Given the description of an element on the screen output the (x, y) to click on. 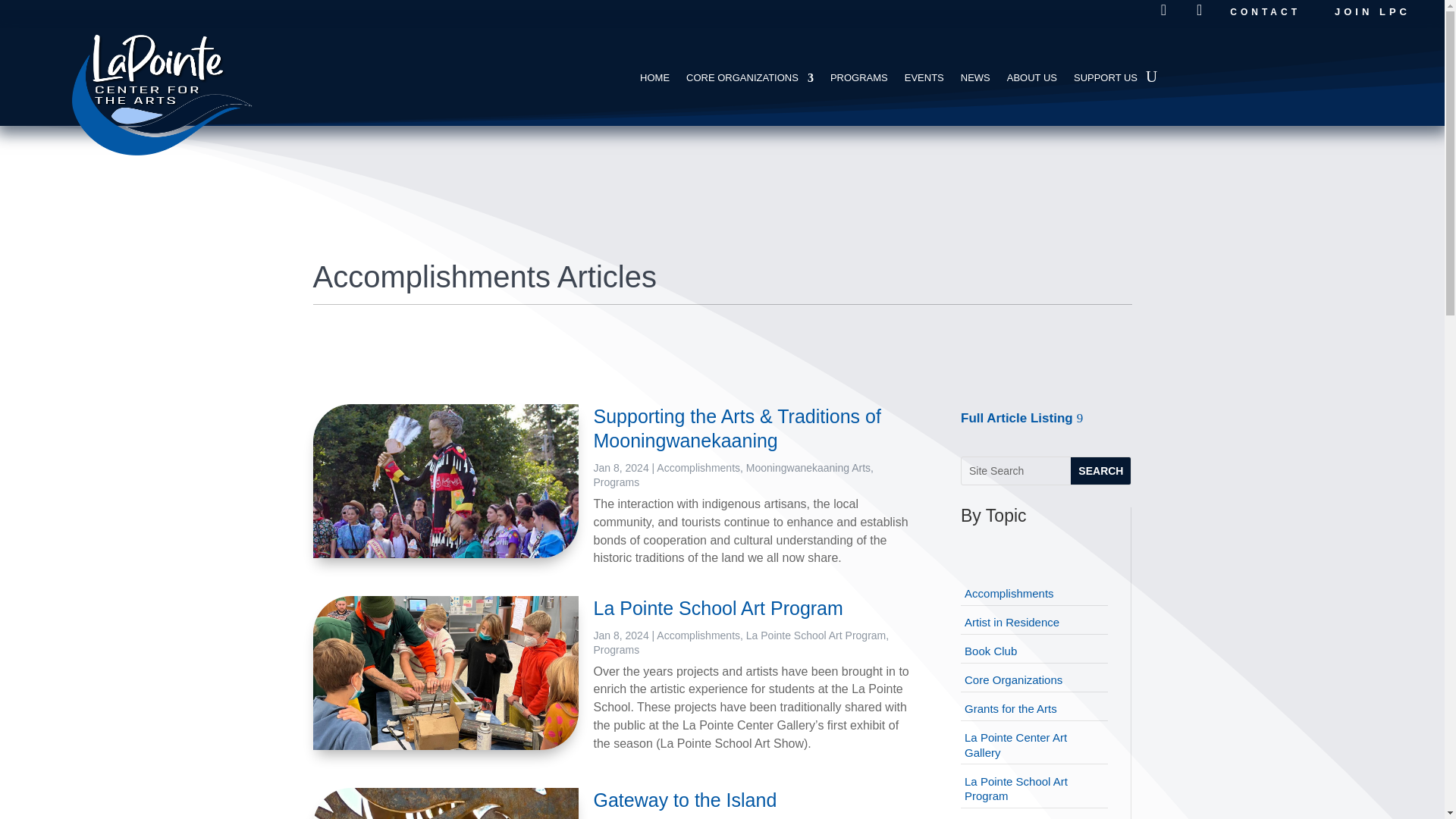
JOIN LPC (1380, 12)
ABOUT US (1032, 79)
Search (1100, 470)
LPC Fav Icon Logo White-Blue (179, 91)
Open YouTube (1196, 10)
CONTACT (1264, 11)
NEWS (975, 79)
Open Facebook (1162, 10)
EVENTS (923, 79)
HOME (654, 79)
SUPPORT US (1105, 79)
PROGRAMS (858, 79)
CORE ORGANIZATIONS (749, 79)
Search (1100, 470)
